Given the description of an element on the screen output the (x, y) to click on. 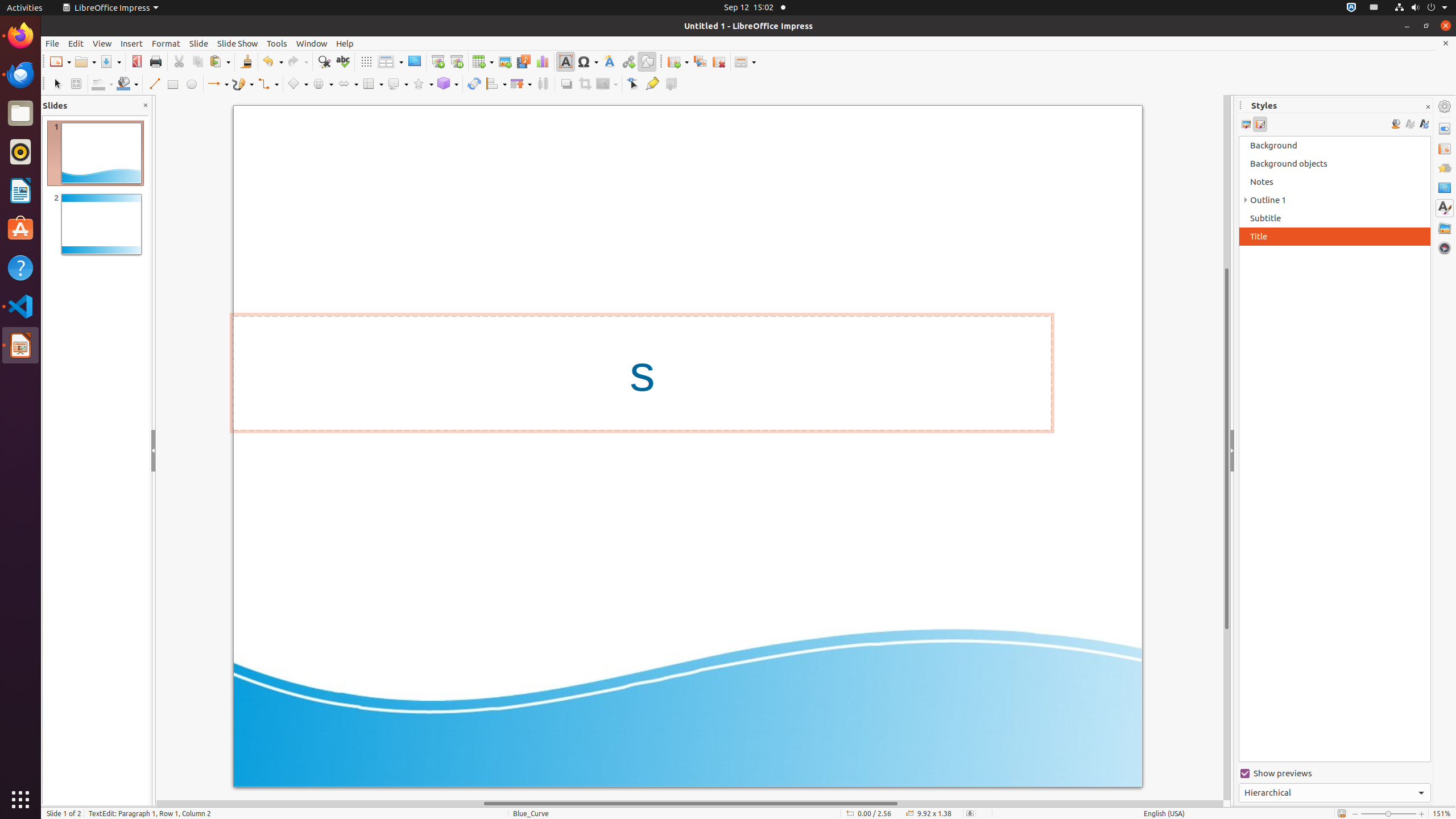
Vertical scroll bar Element type: scroll-bar (1226, 447)
Presentation Styles Element type: push-button (1259, 123)
Drawing Styles Element type: push-button (1245, 123)
Zoom & Pan Element type: push-button (75, 83)
Navigator Element type: radio-button (1444, 247)
